Given the description of an element on the screen output the (x, y) to click on. 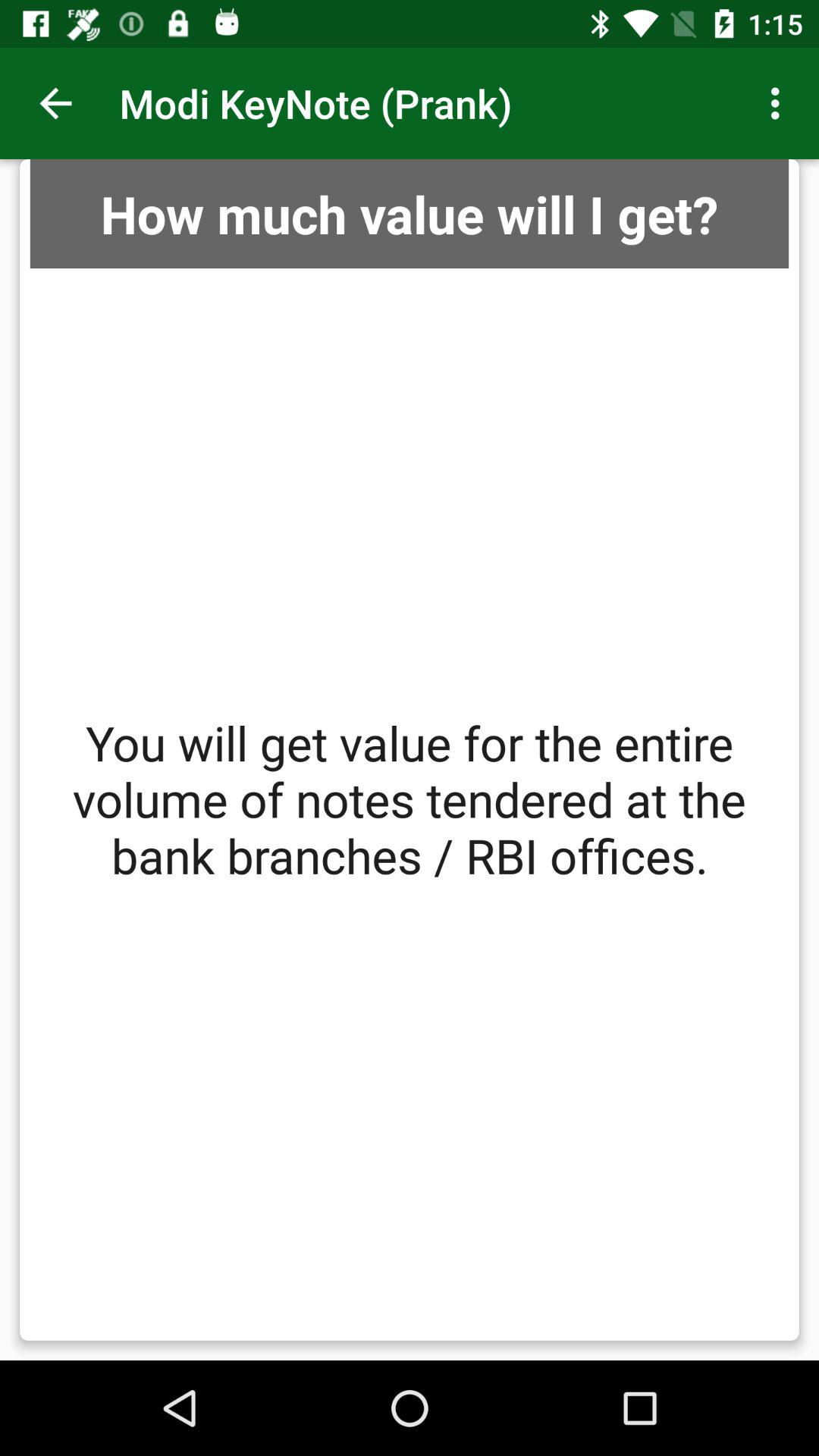
select the item to the right of modi keynote (prank) app (779, 103)
